Given the description of an element on the screen output the (x, y) to click on. 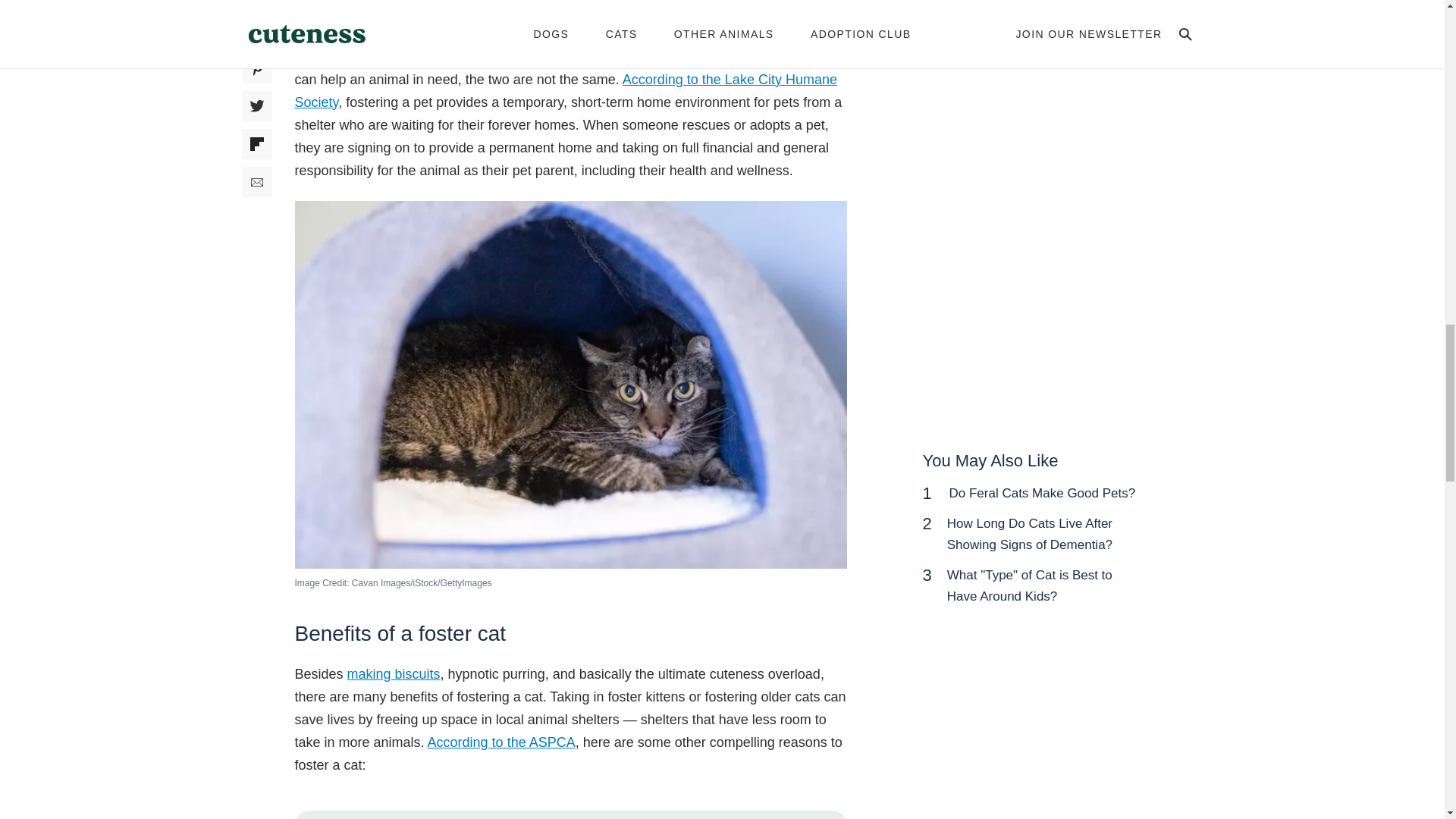
Do Feral Cats Make Good Pets? (1042, 493)
What "Type" of Cat is Best to Have Around Kids? (1029, 585)
How Long Do Cats Live After Showing Signs of Dementia? (1029, 534)
